Given the description of an element on the screen output the (x, y) to click on. 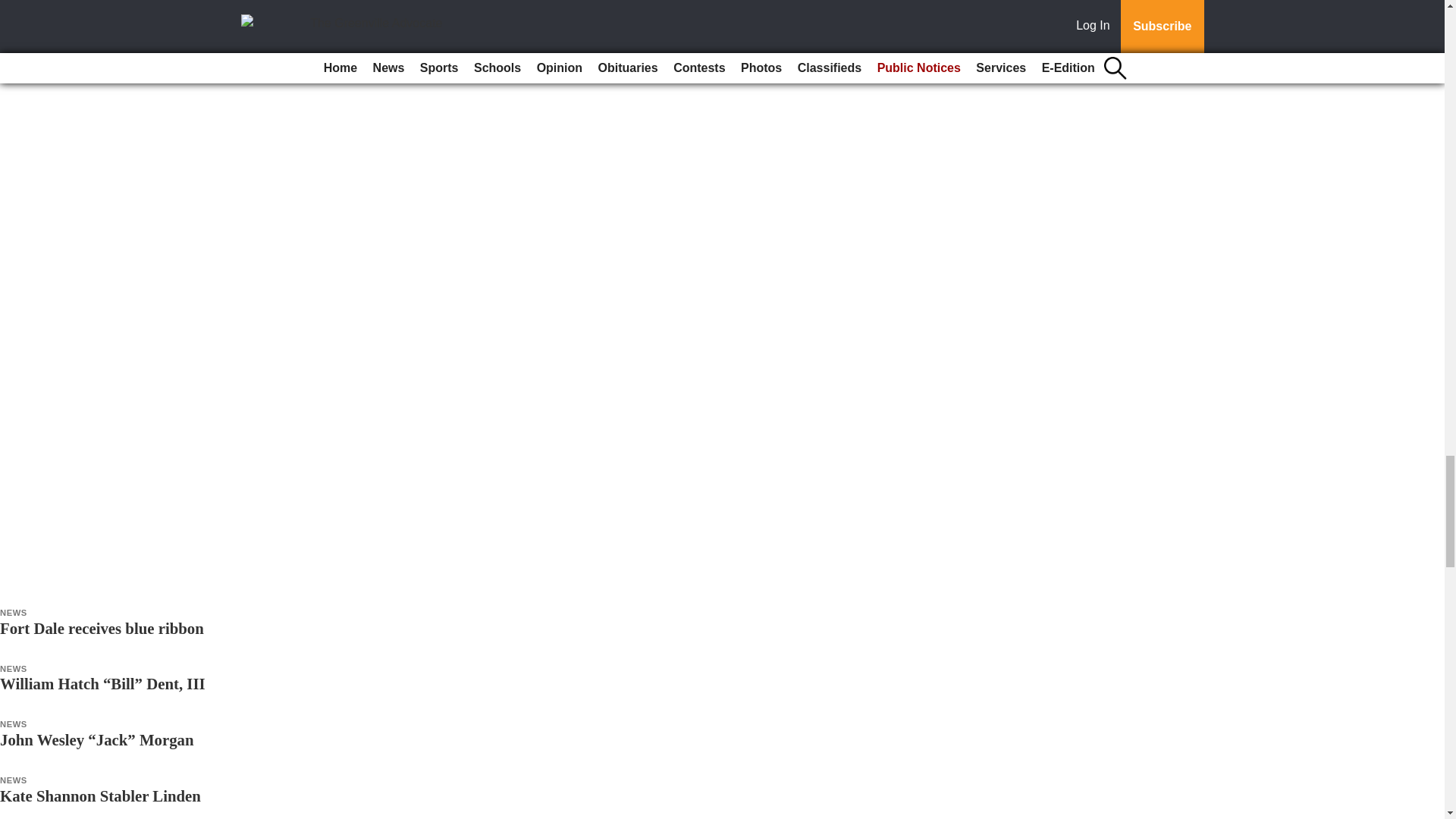
Fort Dale receives blue ribbon (101, 628)
Fort Dale receives blue ribbon (101, 628)
Kate Shannon Stabler Linden (100, 795)
Kate Shannon Stabler Linden (100, 795)
